Given the description of an element on the screen output the (x, y) to click on. 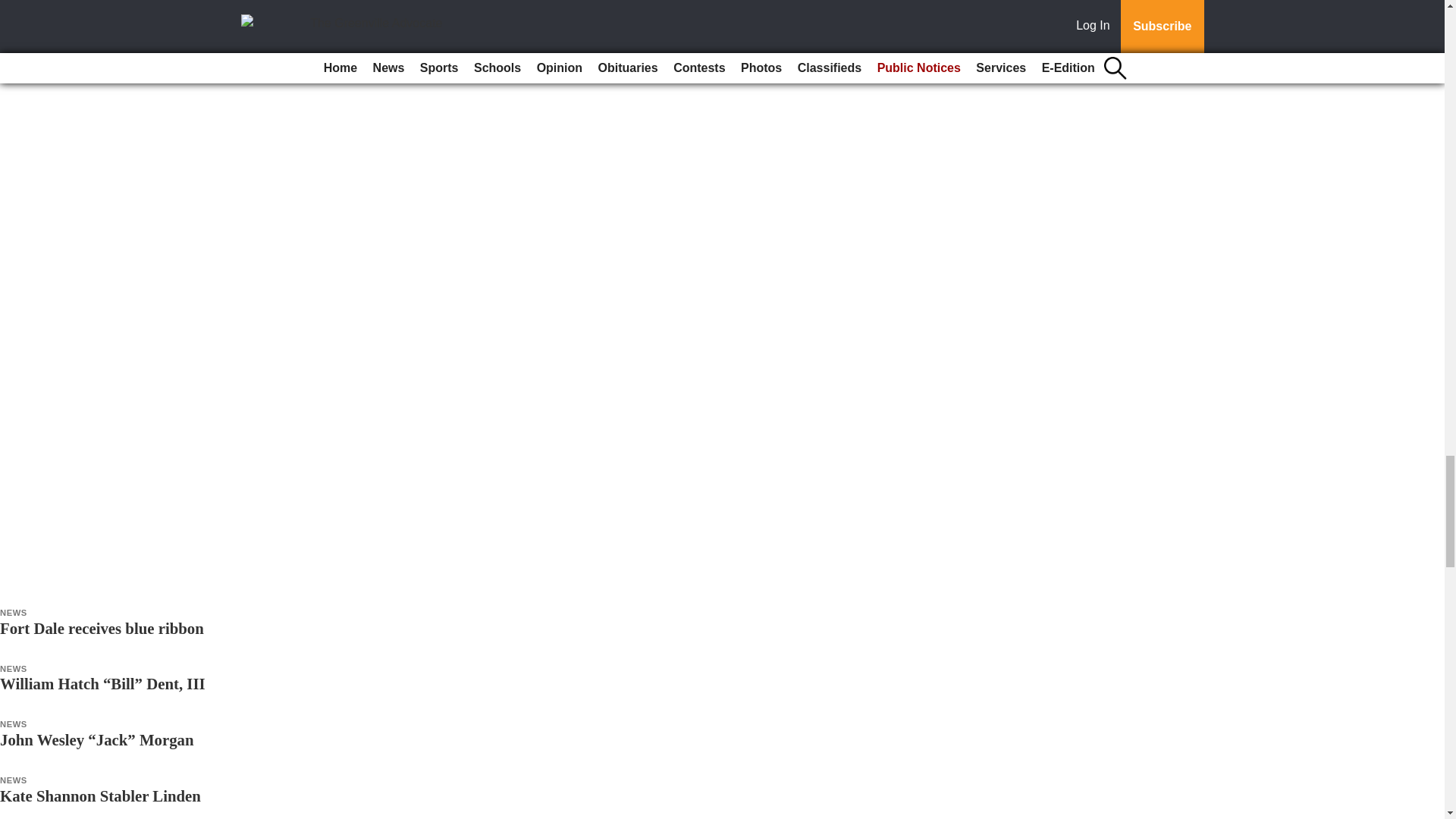
Fort Dale receives blue ribbon (101, 628)
Fort Dale receives blue ribbon (101, 628)
Kate Shannon Stabler Linden (100, 795)
Kate Shannon Stabler Linden (100, 795)
